Given the description of an element on the screen output the (x, y) to click on. 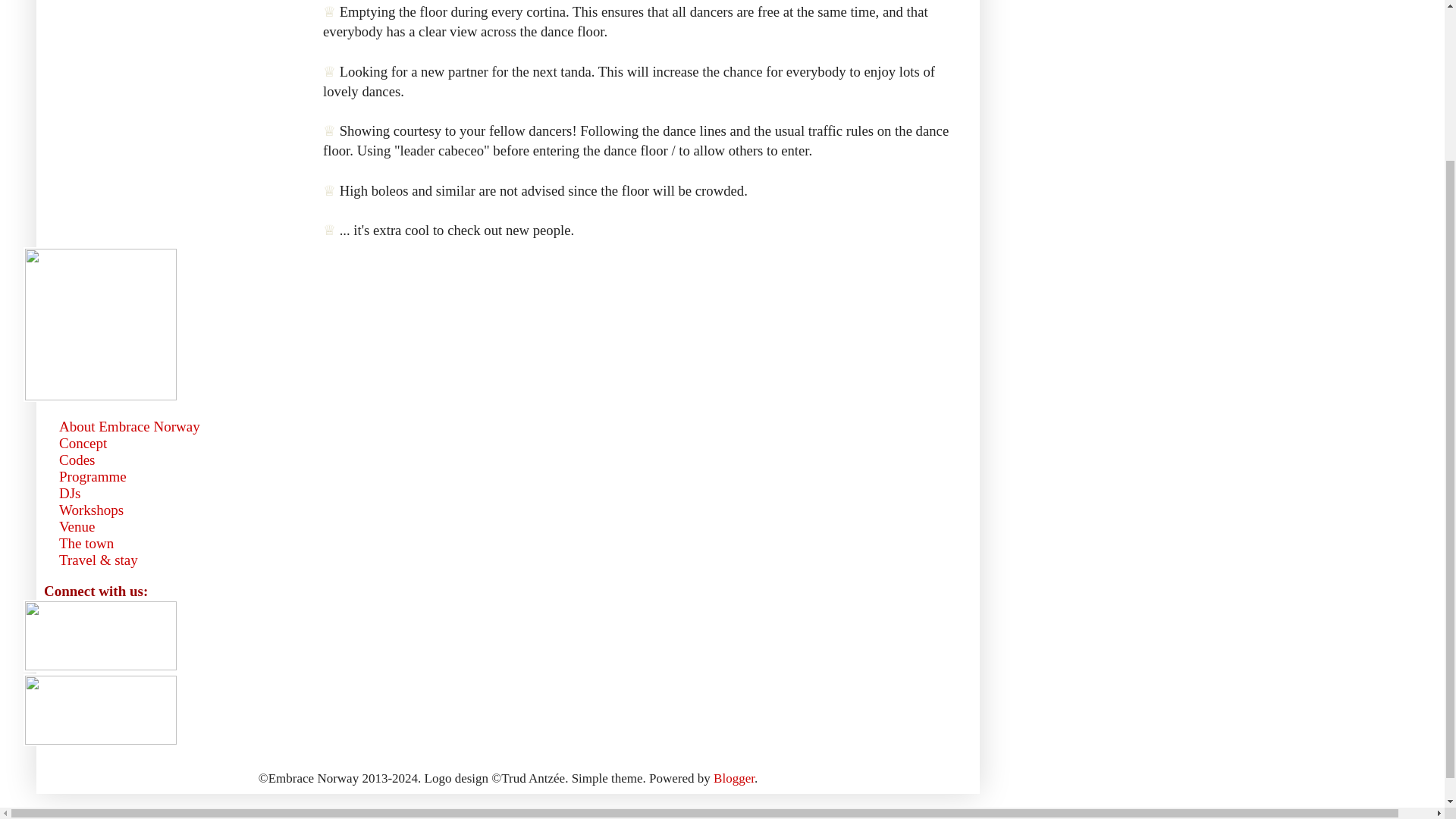
Programme (92, 476)
The town (86, 543)
DJs (70, 493)
Blogger (733, 778)
Venue (76, 526)
Concept (82, 442)
About Embrace Norway (129, 426)
Codes (77, 459)
Workshops (91, 509)
